Given the description of an element on the screen output the (x, y) to click on. 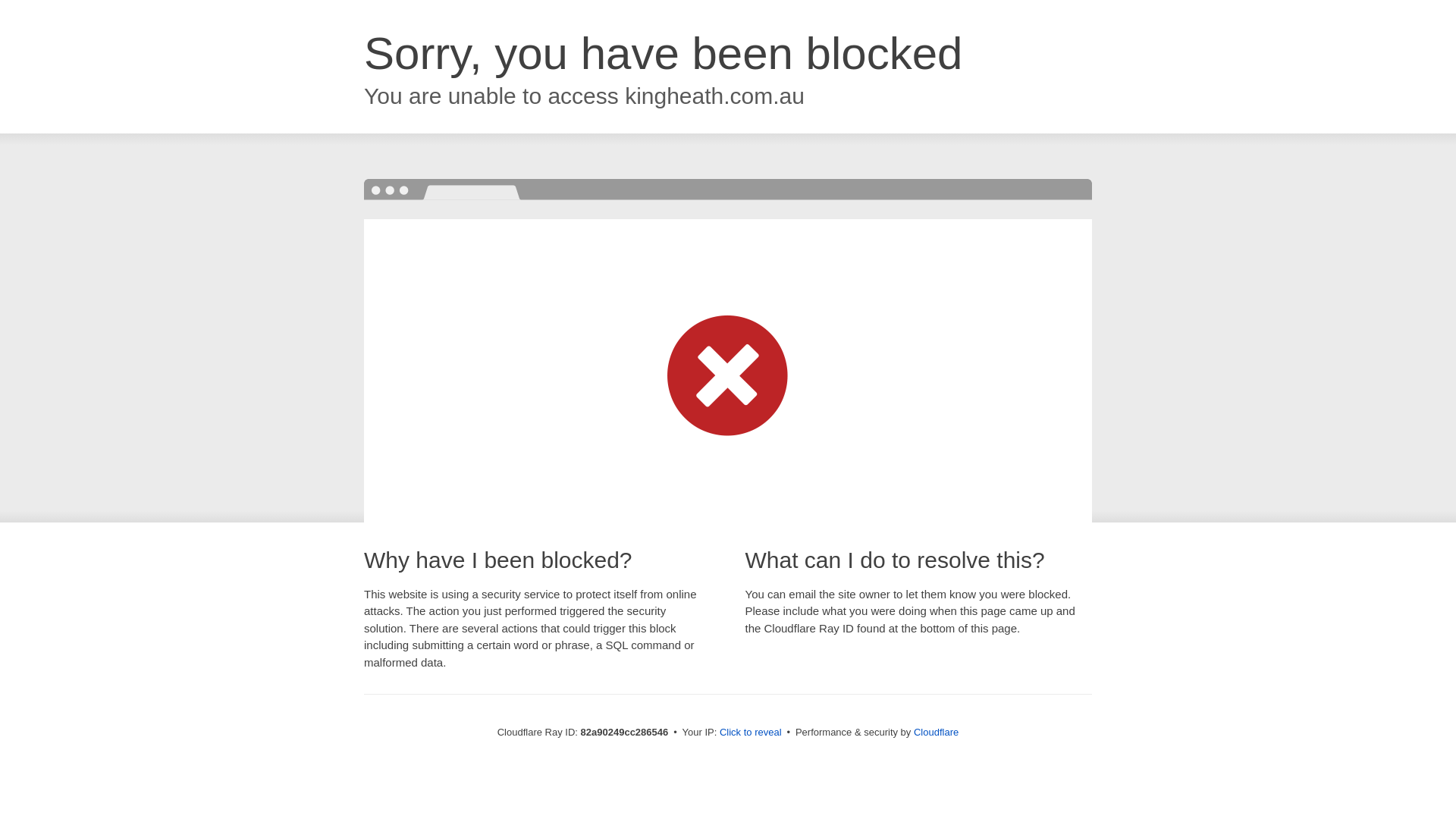
Cloudflare Element type: text (935, 731)
Click to reveal Element type: text (750, 732)
